Given the description of an element on the screen output the (x, y) to click on. 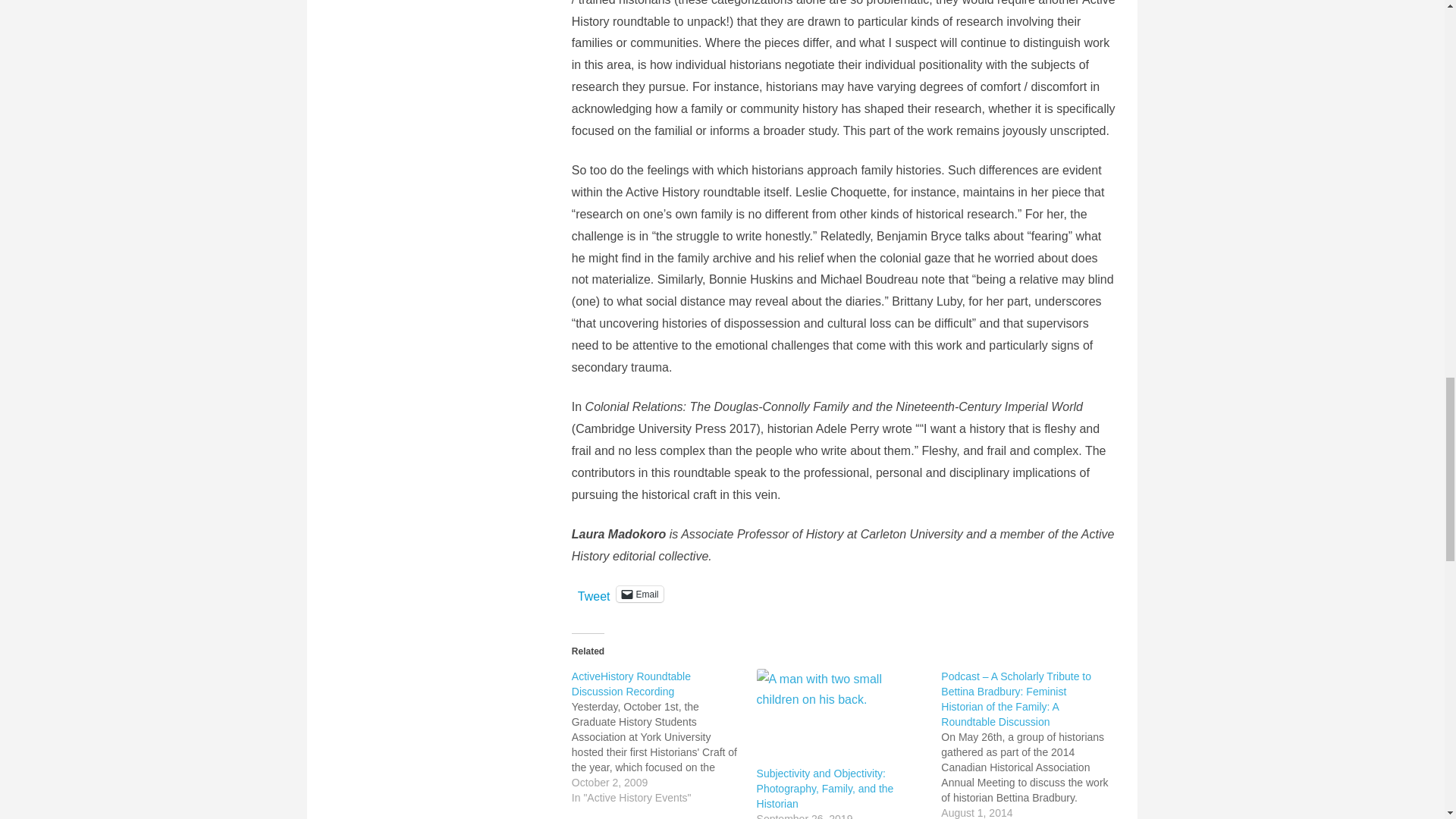
ActiveHistory Roundtable Discussion Recording (631, 683)
ActiveHistory Roundtable Discussion Recording (631, 683)
Click to email a link to a friend (638, 593)
ActiveHistory Roundtable Discussion Recording (664, 737)
Tweet (594, 592)
Email (638, 593)
